Given the description of an element on the screen output the (x, y) to click on. 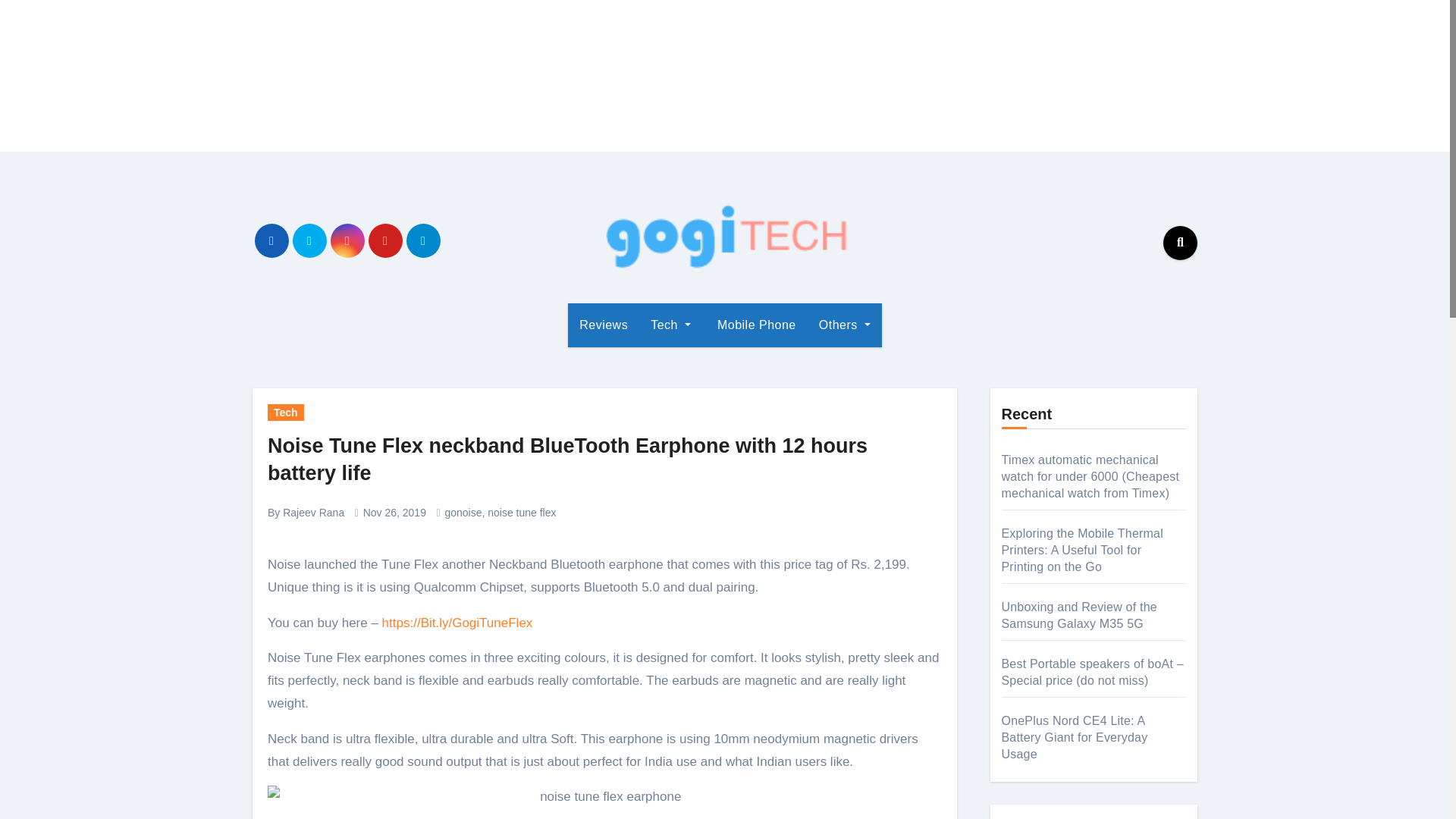
Others (845, 325)
Tech (285, 412)
By Rajeev Rana (305, 512)
Tech (670, 325)
Others (845, 325)
Tech (670, 325)
Mobile Phone Section (754, 325)
Reviews (603, 325)
 Mobile Phone (754, 325)
Reviews (603, 325)
